Given the description of an element on the screen output the (x, y) to click on. 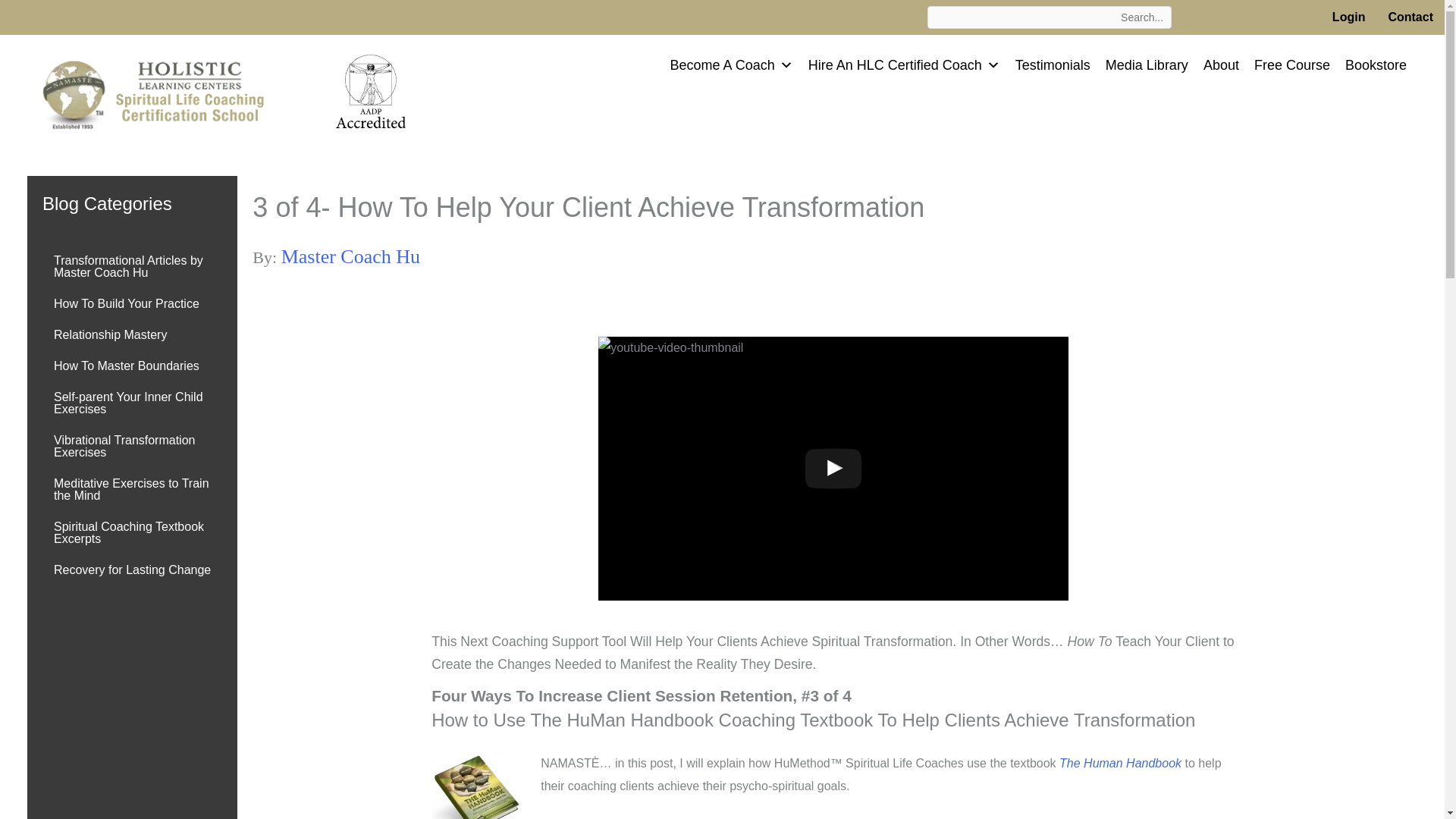
HLC Banner (164, 91)
Login (1348, 17)
Contact (1410, 17)
aadp new (370, 89)
